Given the description of an element on the screen output the (x, y) to click on. 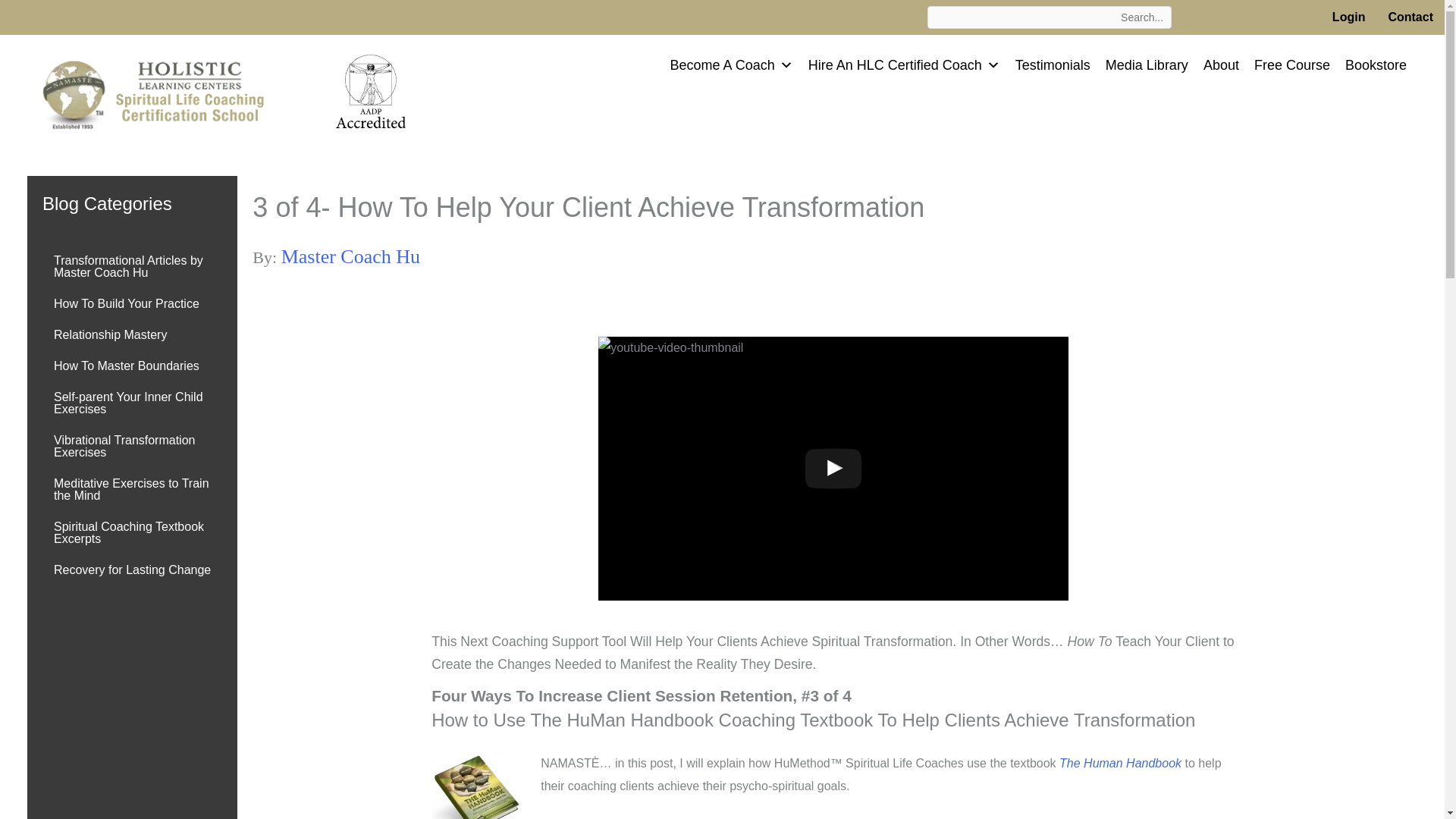
HLC Banner (164, 91)
Login (1348, 17)
Contact (1410, 17)
aadp new (370, 89)
